Given the description of an element on the screen output the (x, y) to click on. 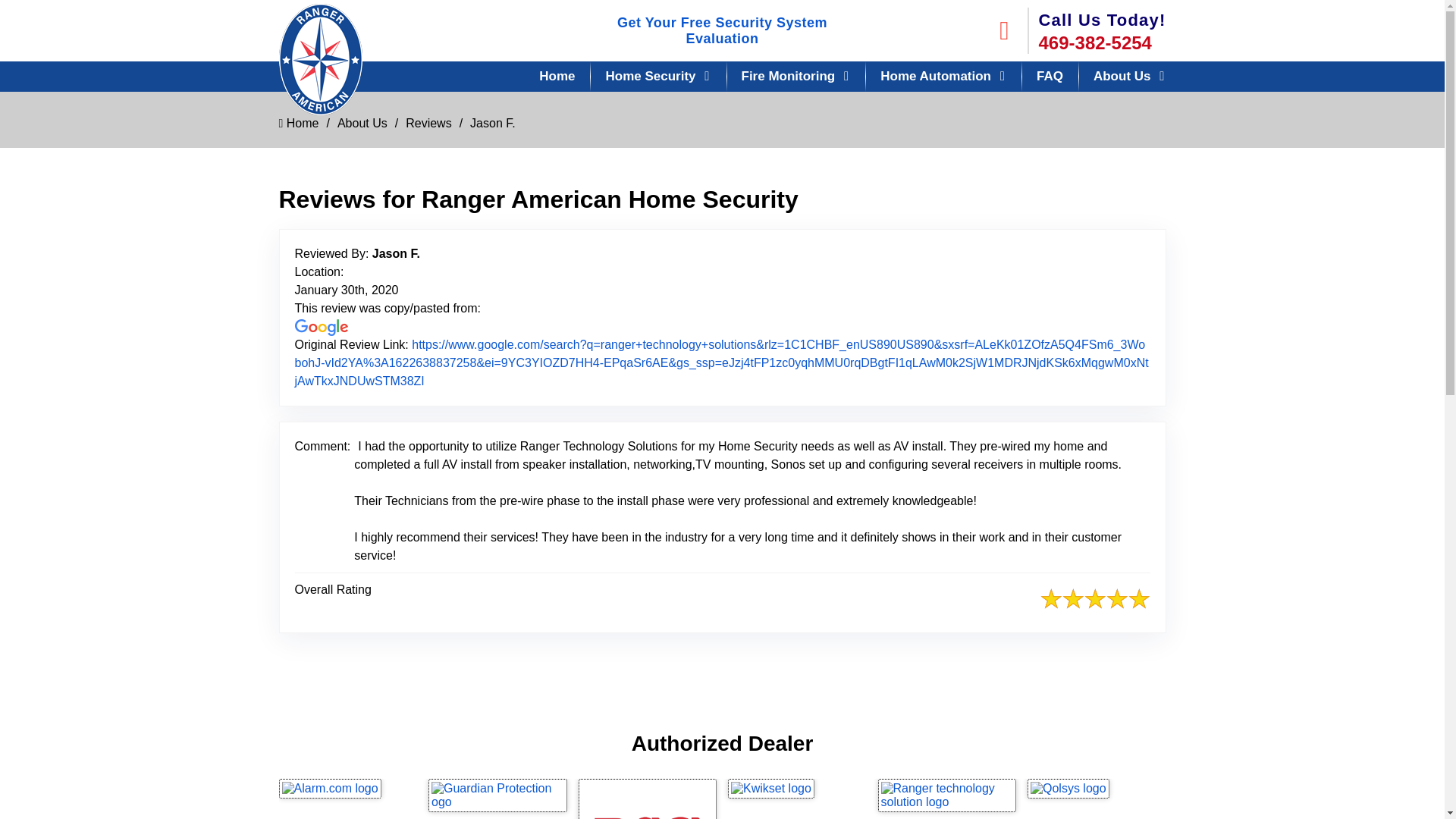
469-382-5254 (1102, 43)
Get Your Free Security System Evaluation (722, 30)
Home (556, 76)
Originally reviewed on Google (320, 327)
Home Security (657, 76)
Home Automation (943, 76)
Fire Monitoring (795, 76)
